Given the description of an element on the screen output the (x, y) to click on. 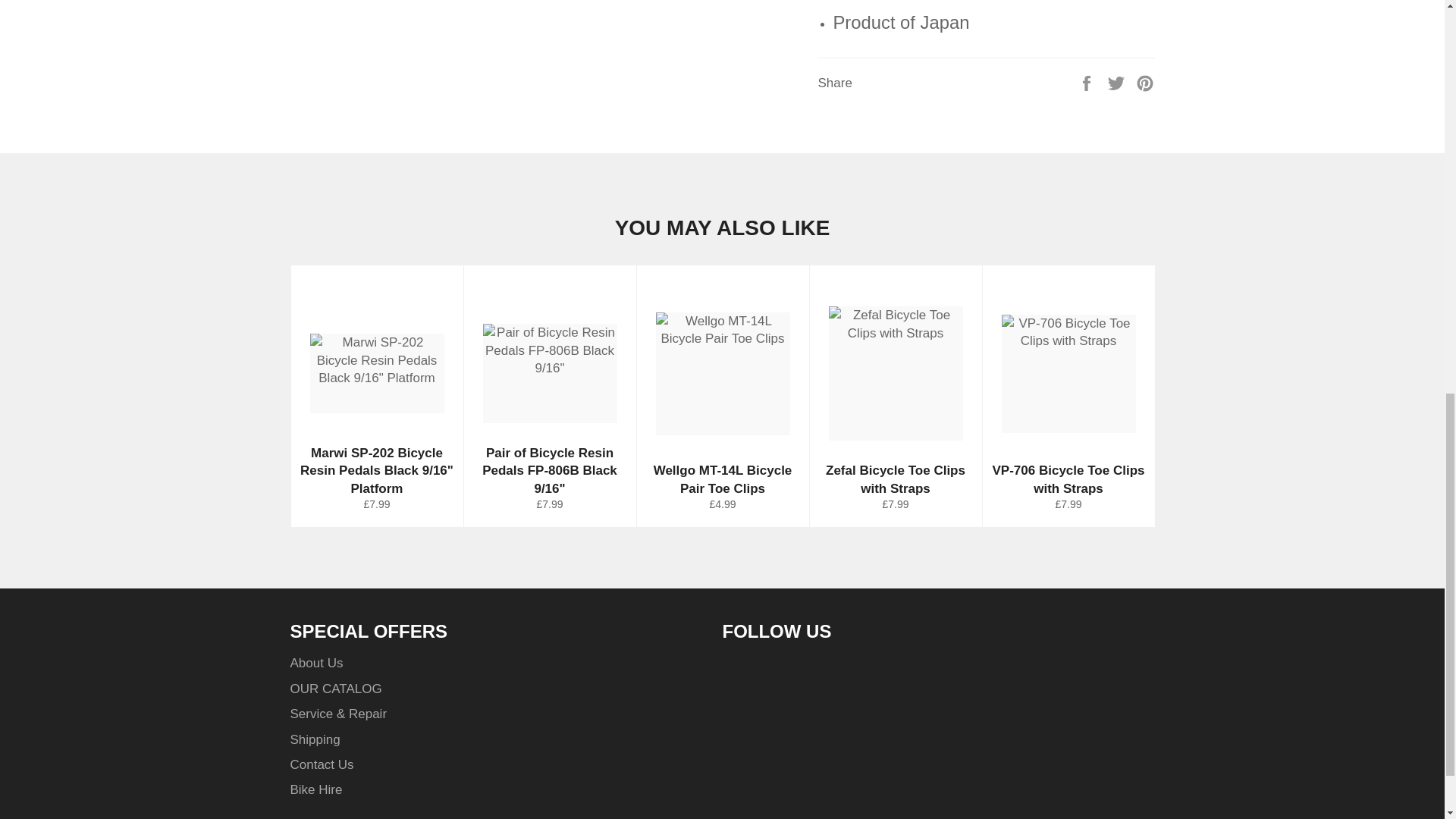
Share on Facebook (1088, 82)
Pin on Pinterest (1144, 82)
Tweet on Twitter (1117, 82)
